Given the description of an element on the screen output the (x, y) to click on. 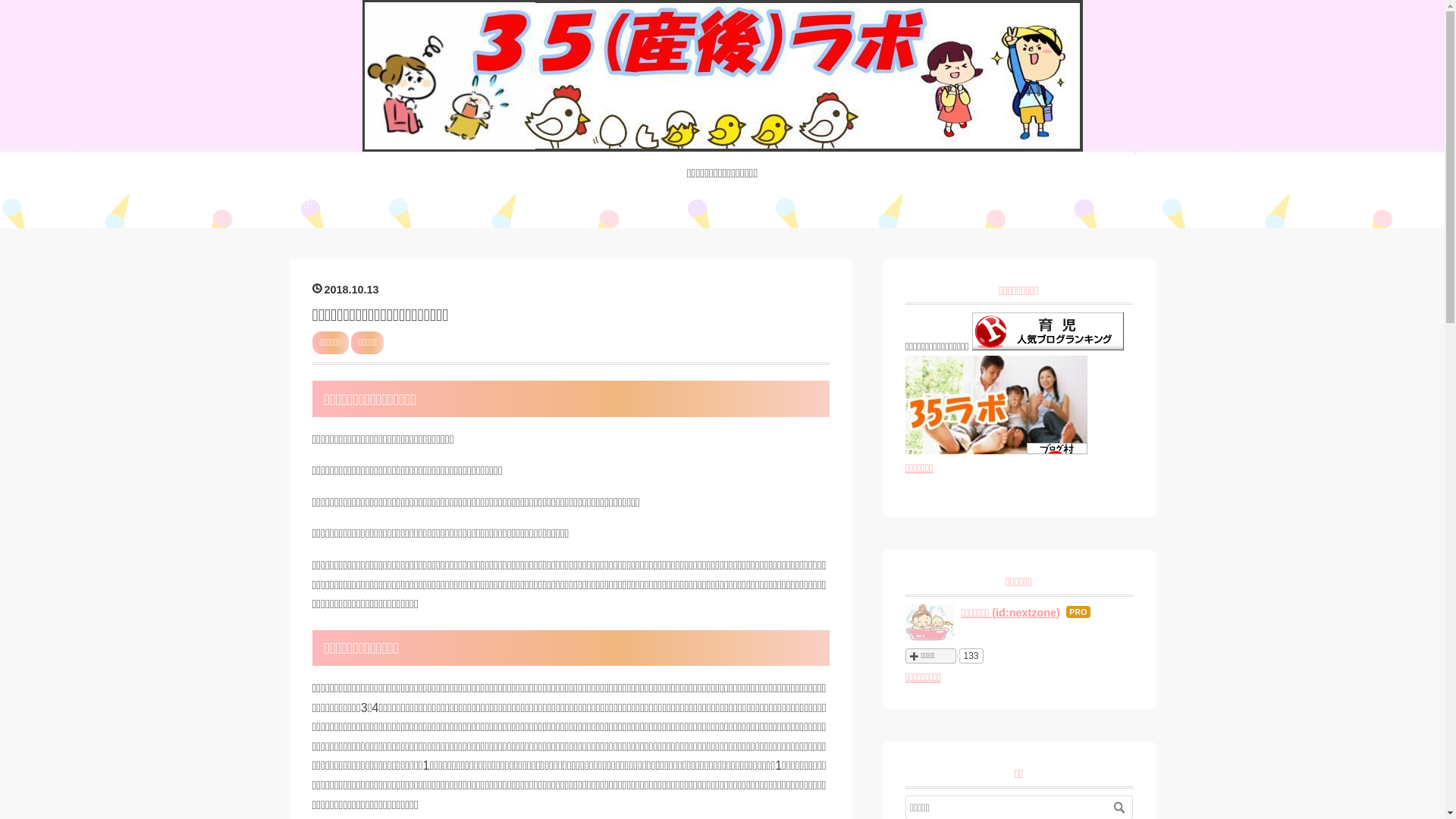
20181013 Element type: text (345, 289)
